Given the description of an element on the screen output the (x, y) to click on. 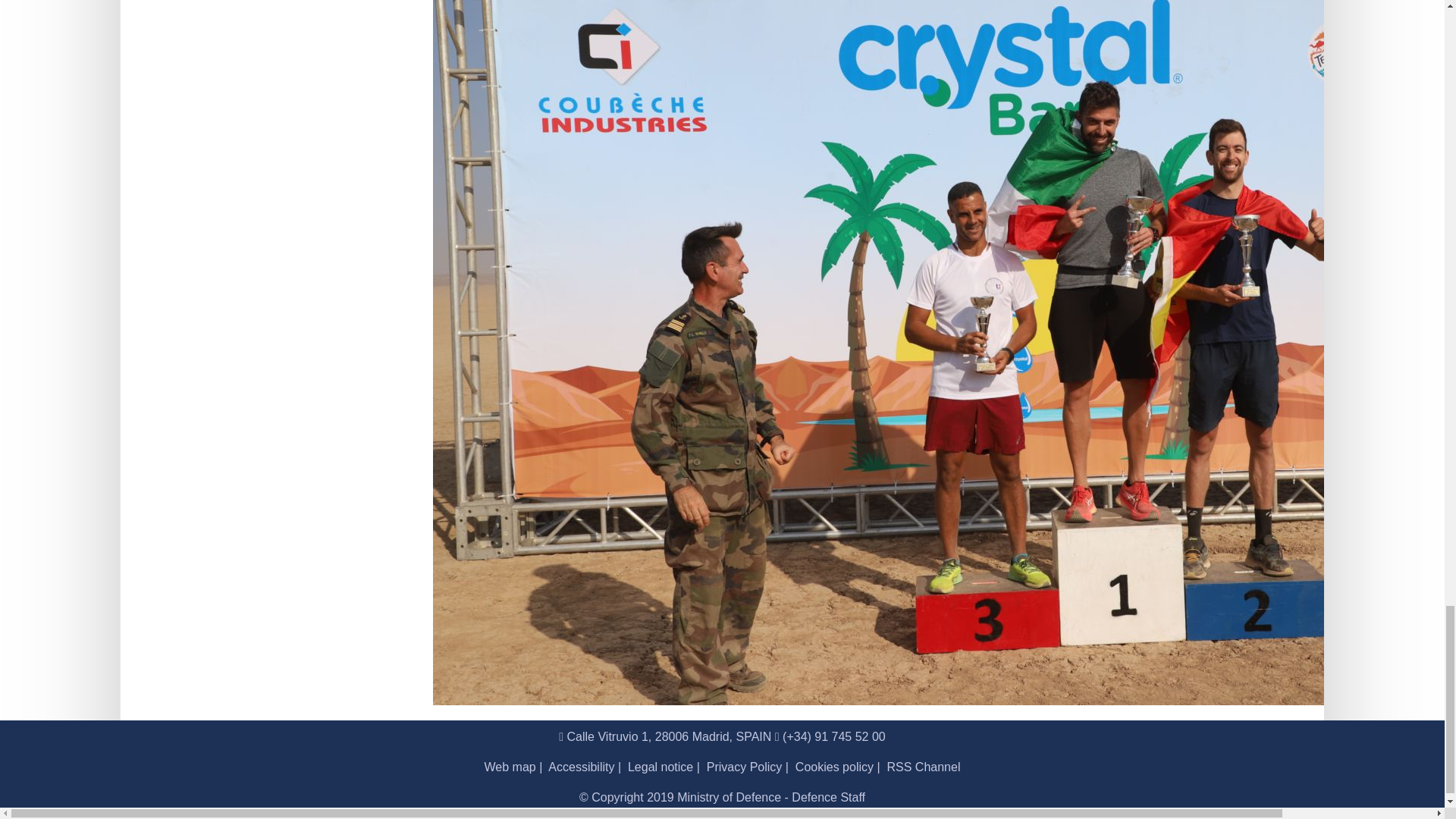
Accessibility (581, 766)
Web map (509, 766)
Cookies policy (833, 766)
Legal notice (660, 766)
Privacy Policy (744, 766)
RSS Channel (923, 766)
